Given the description of an element on the screen output the (x, y) to click on. 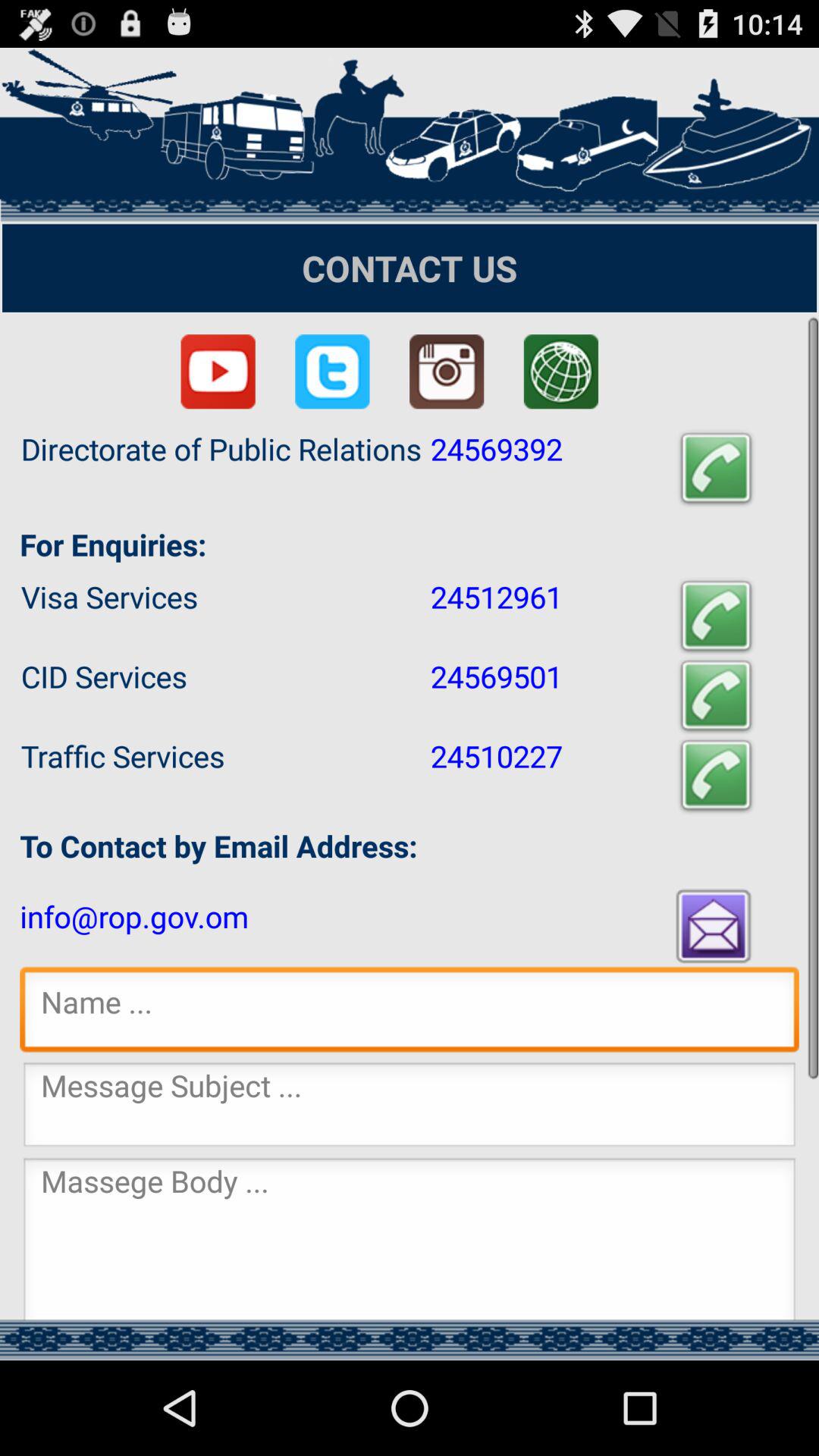
enter message (409, 1238)
